Given the description of an element on the screen output the (x, y) to click on. 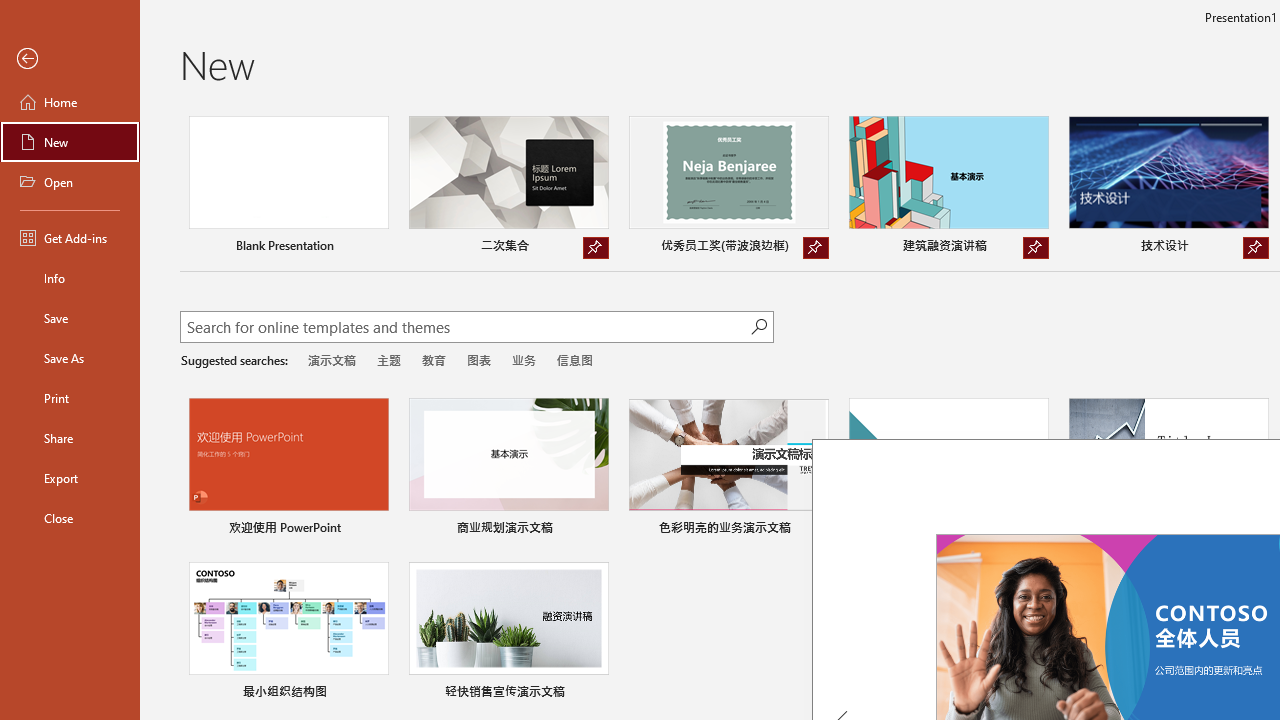
Print (69, 398)
Search for online templates and themes (465, 329)
Blank Presentation (288, 187)
